Given the description of an element on the screen output the (x, y) to click on. 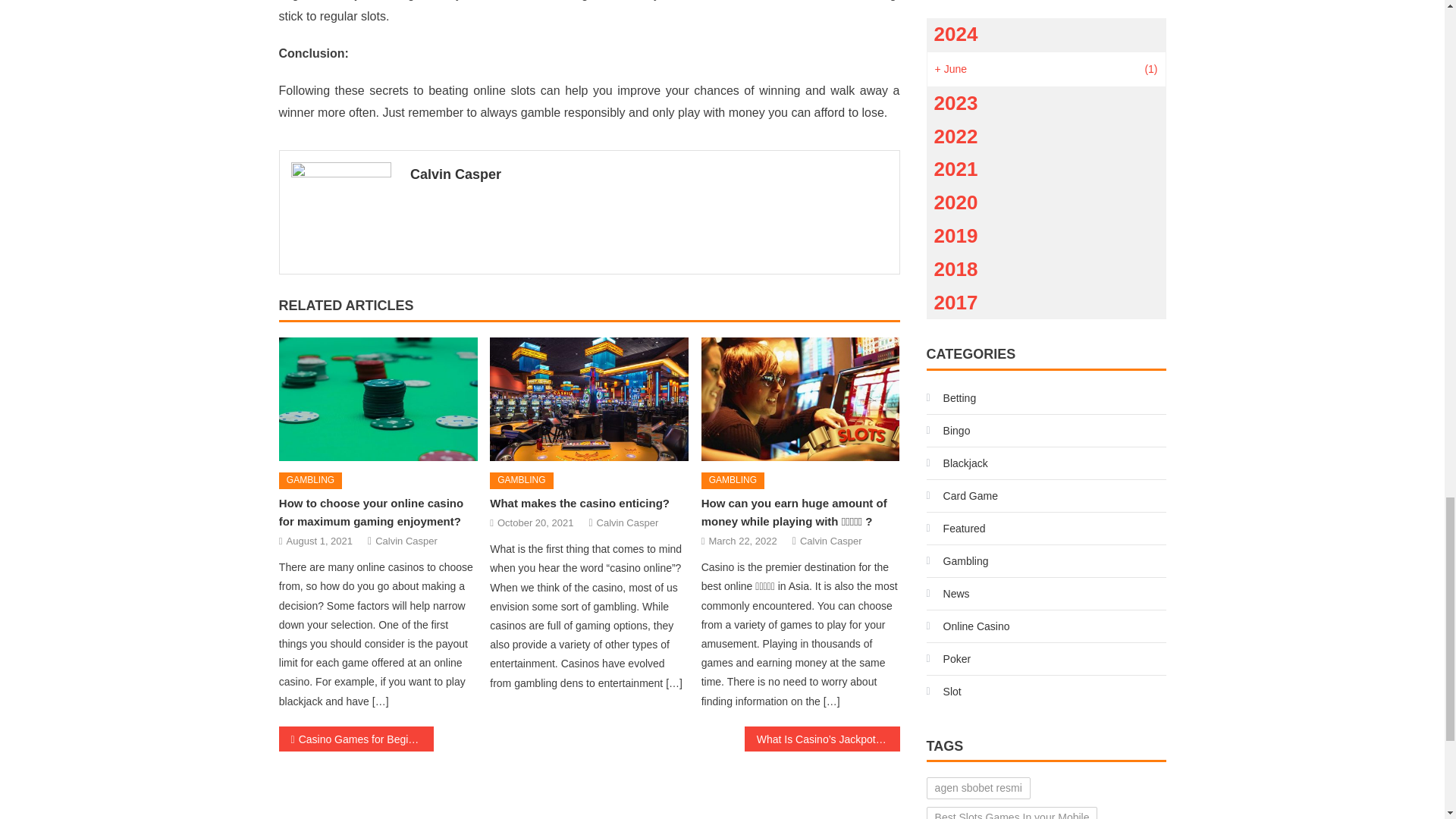
GAMBLING (732, 480)
Casino Games for Beginners: How to Get Started (356, 738)
October 20, 2021 (535, 522)
March 22, 2022 (741, 540)
August 1, 2021 (319, 540)
What makes the casino enticing? (588, 399)
Calvin Casper (649, 174)
GAMBLING (521, 480)
What makes the casino enticing? (579, 502)
Calvin Casper (627, 522)
Calvin Casper (406, 540)
Calvin Casper (830, 540)
GAMBLING (310, 480)
